Given the description of an element on the screen output the (x, y) to click on. 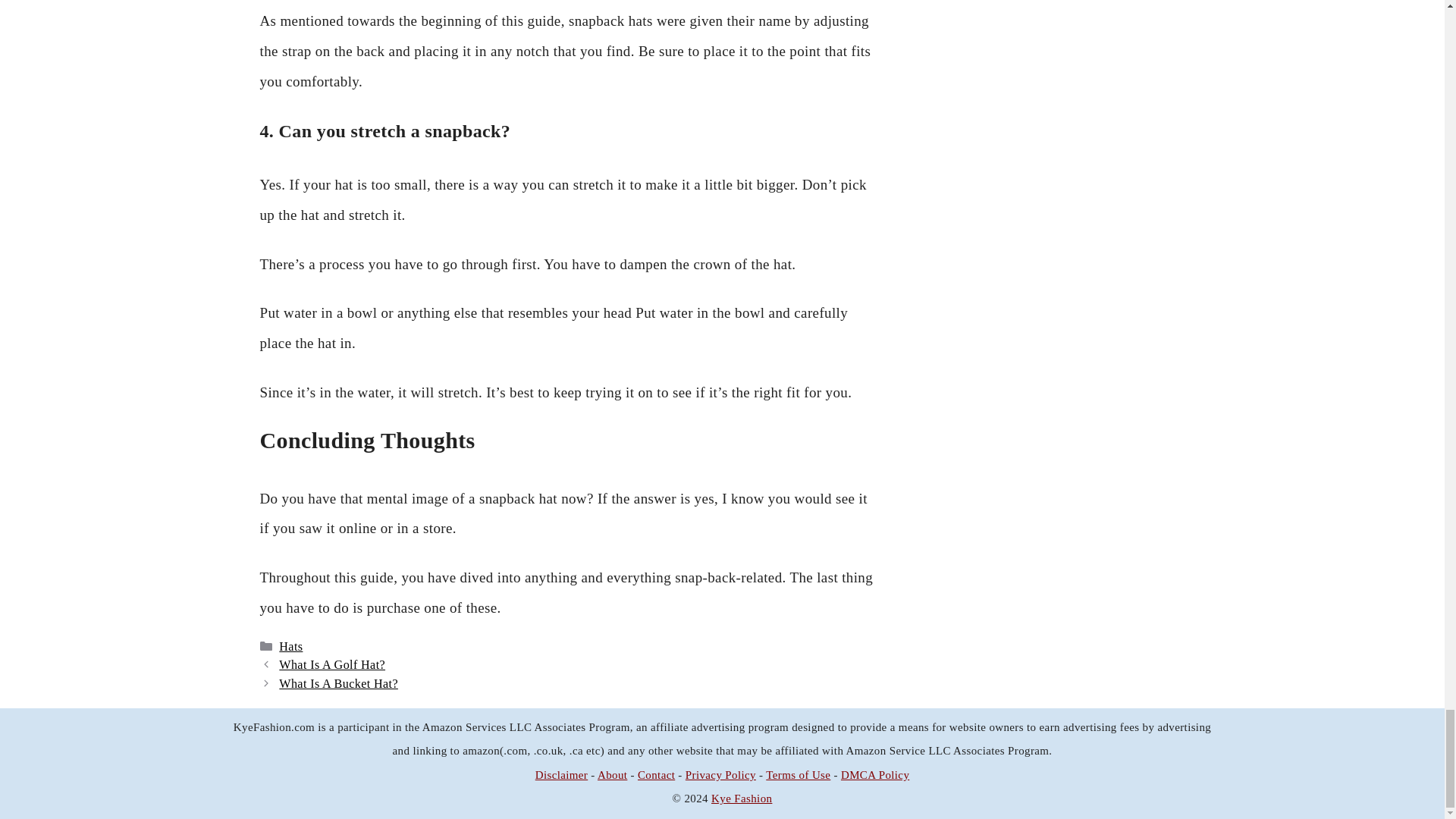
Disclaimer (561, 775)
Privacy Policy (720, 775)
Terms of Use (797, 775)
Contact (656, 775)
What Is A Golf Hat? (332, 664)
What Is A Bucket Hat? (338, 683)
DMCA Policy (874, 775)
Kye Fashion (741, 798)
About (611, 775)
Hats (290, 645)
